Given the description of an element on the screen output the (x, y) to click on. 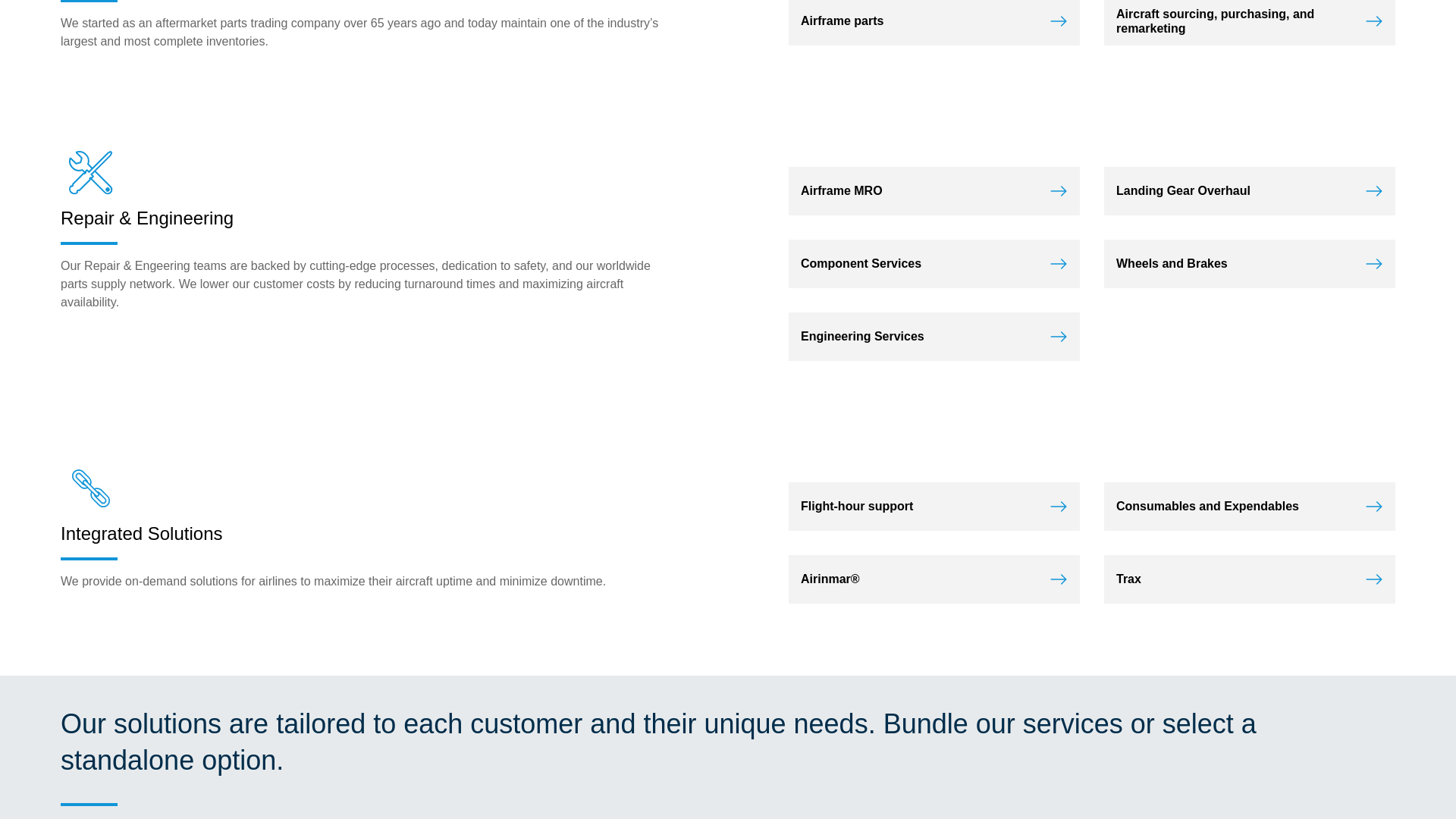
MRO icon (90, 172)
Chain link icon (90, 487)
